Given the description of an element on the screen output the (x, y) to click on. 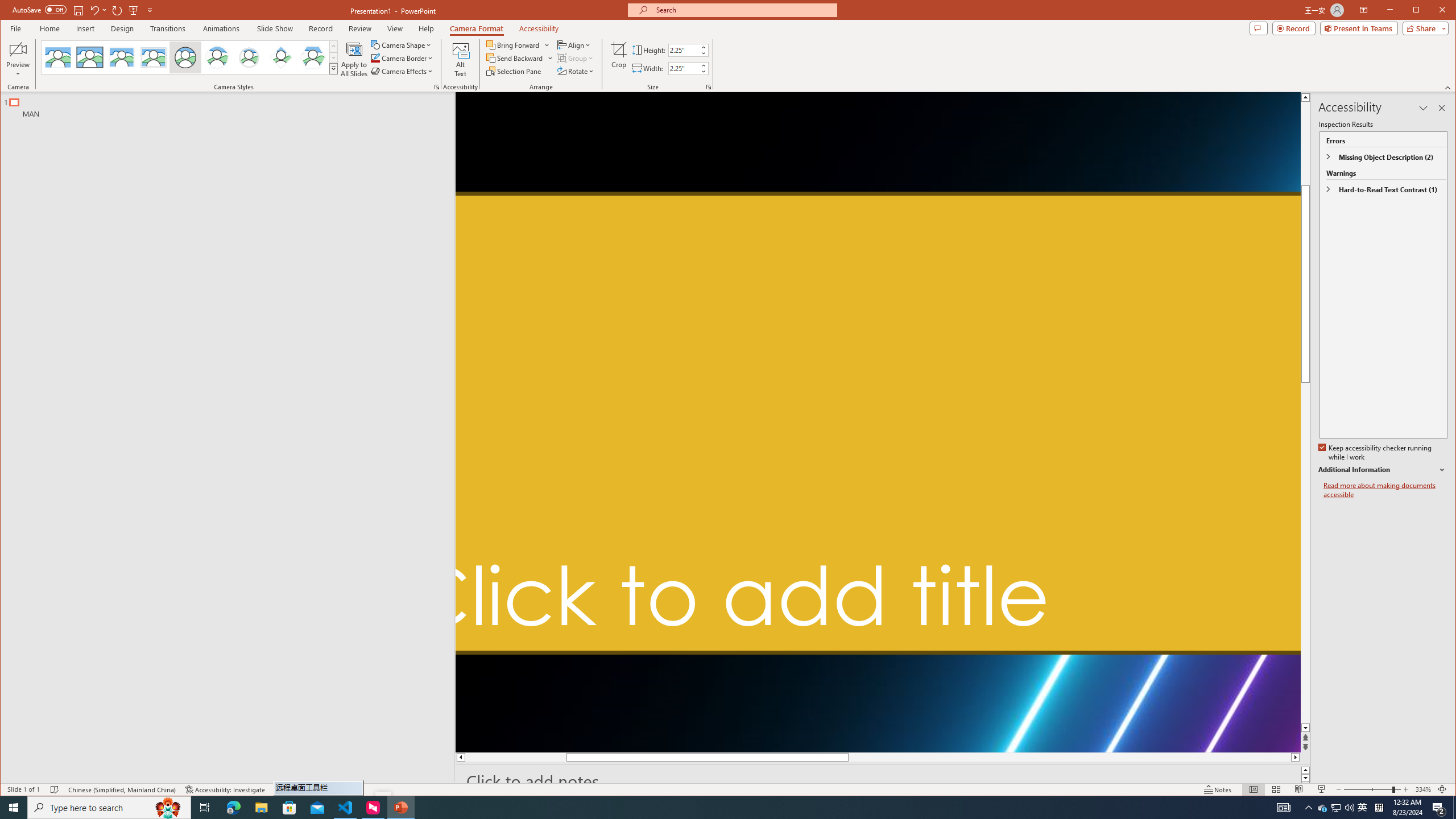
Center Shadow Hexagon (313, 57)
Selection Pane... (514, 70)
Cameo Width (683, 68)
